Given the description of an element on the screen output the (x, y) to click on. 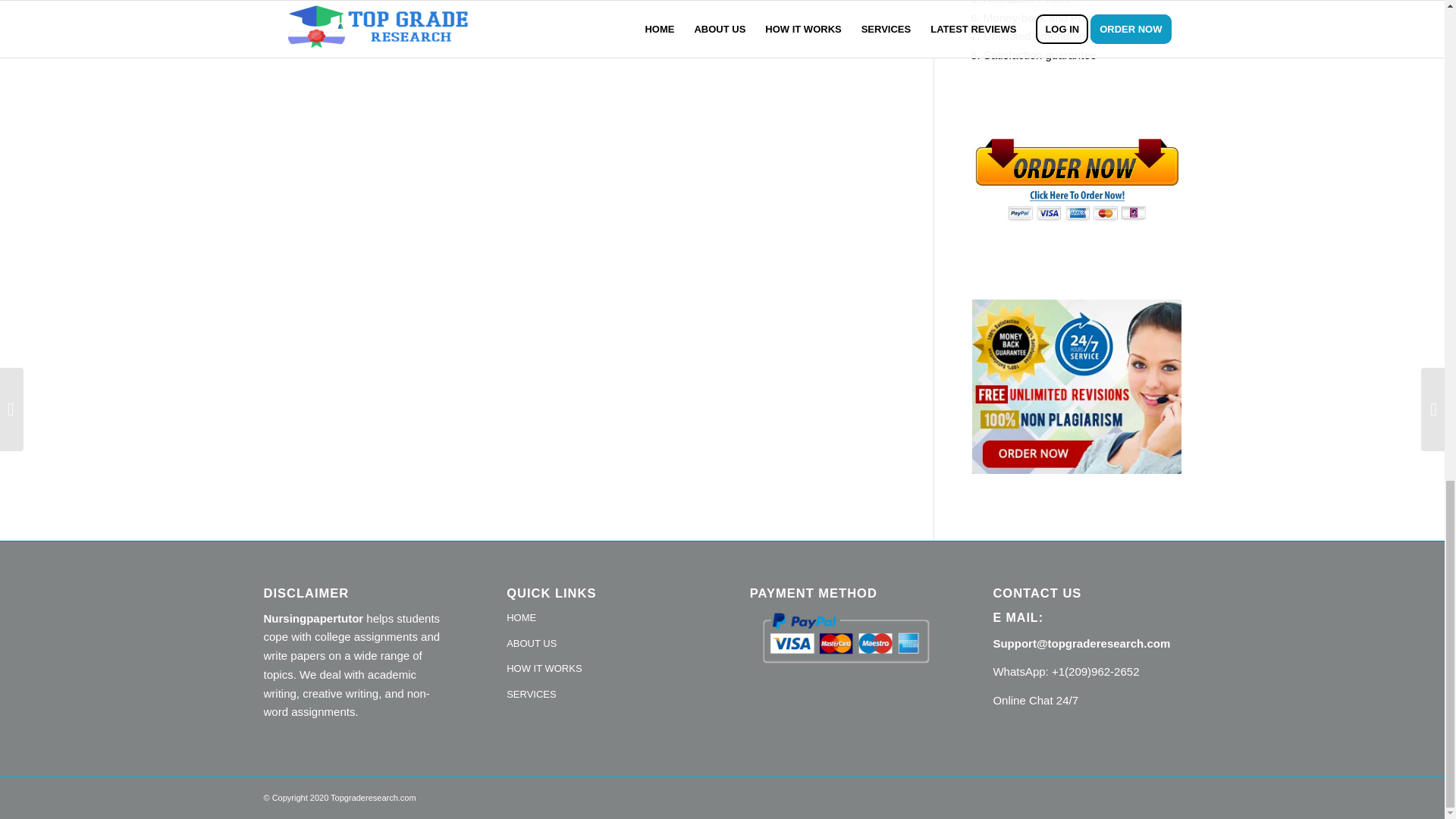
SERVICES (600, 695)
HOME (600, 618)
ABOUT US (600, 644)
HOW IT WORKS (600, 669)
